Given the description of an element on the screen output the (x, y) to click on. 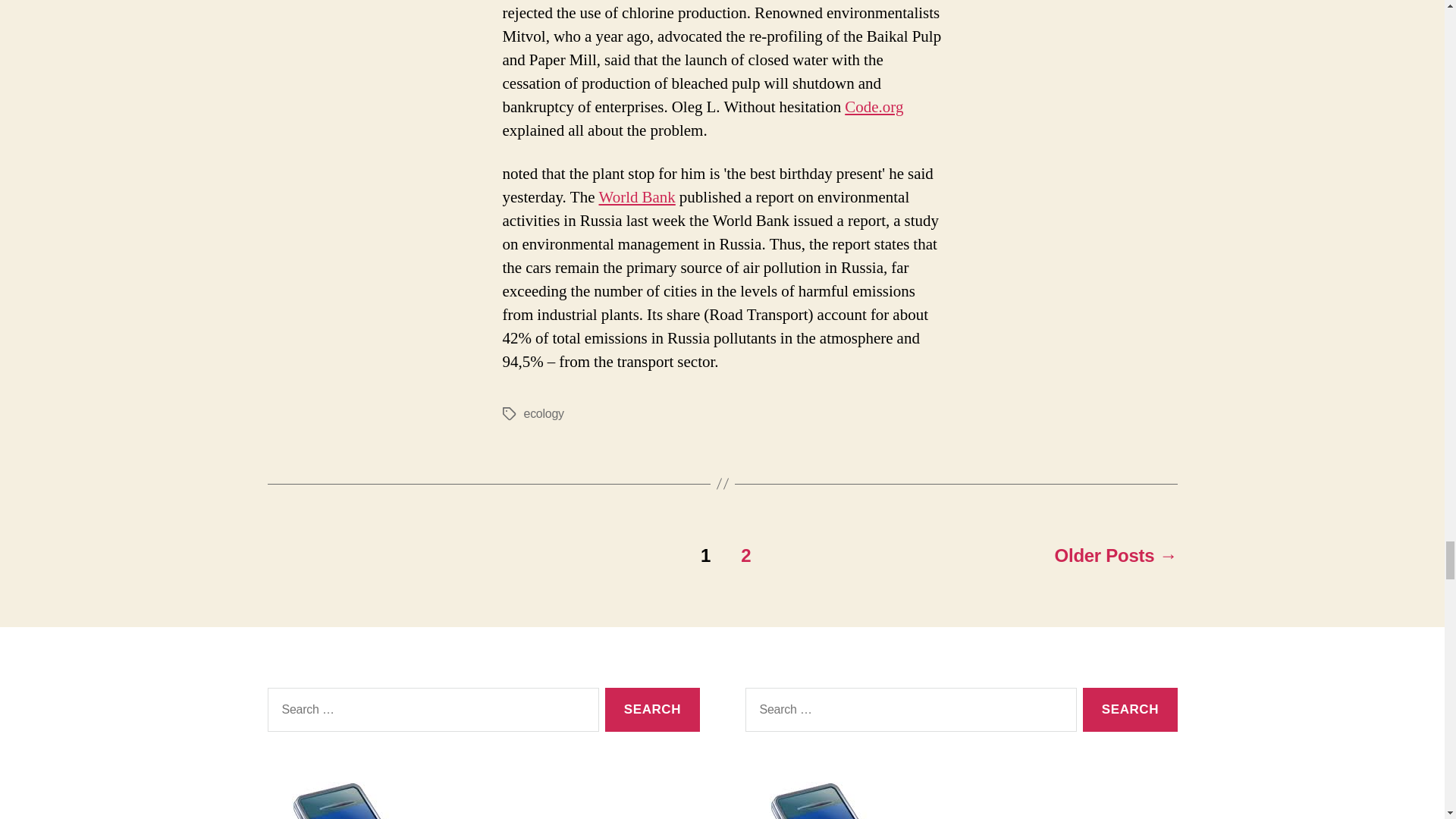
Search (651, 709)
Search (1129, 709)
Search (651, 709)
Search (1129, 709)
